Given the description of an element on the screen output the (x, y) to click on. 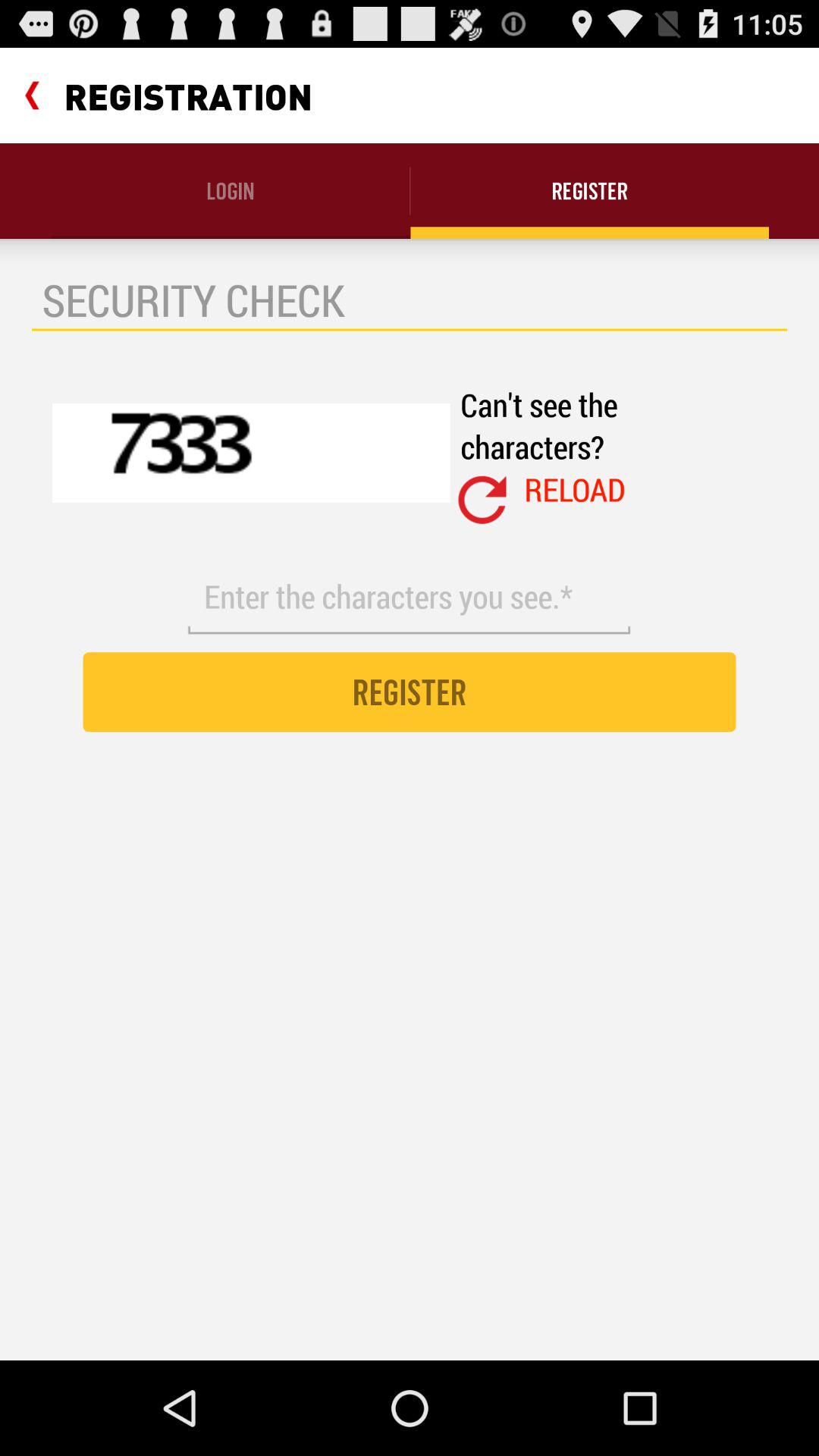
turn off the icon below can t see icon (482, 499)
